Given the description of an element on the screen output the (x, y) to click on. 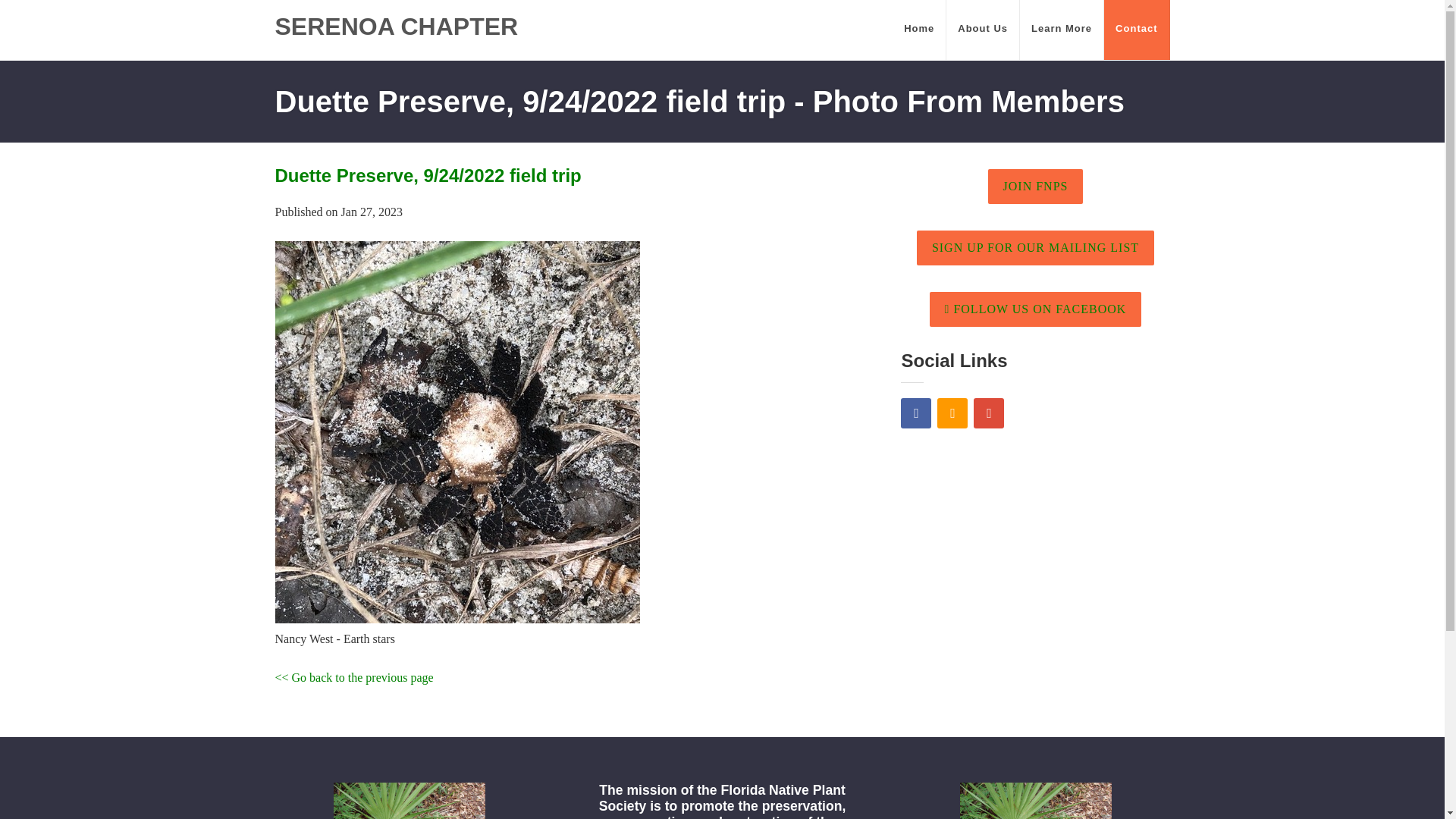
About Us (983, 29)
FOLLOW US ON FACEBOOK (1035, 308)
SIGN UP FOR OUR MAILING LIST (1035, 247)
Learn More (1061, 29)
SERENOA CHAPTER (396, 26)
Home (919, 29)
Contact (1136, 29)
JOIN FNPS (1035, 185)
